Given the description of an element on the screen output the (x, y) to click on. 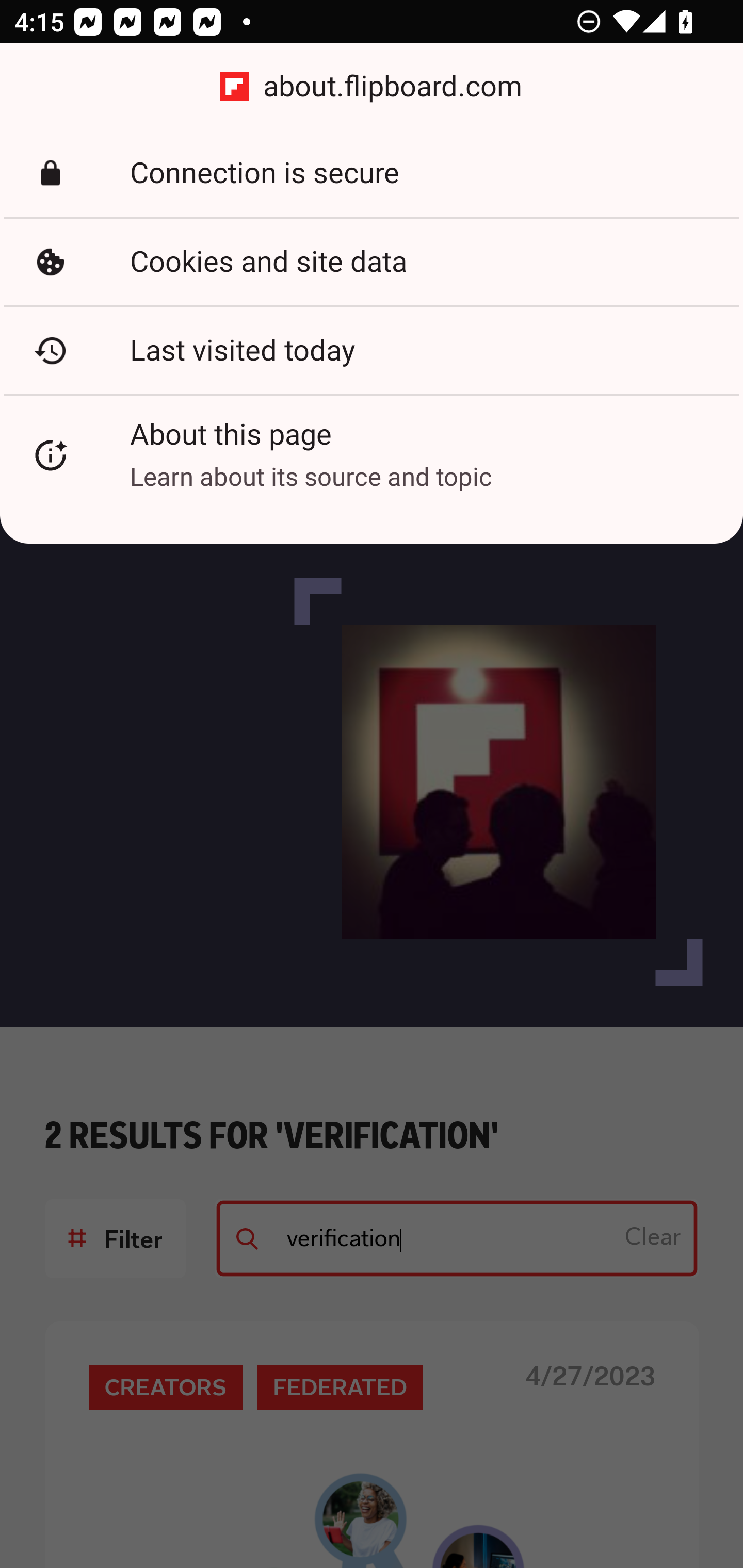
about.flipboard.com (371, 86)
Connection is secure (371, 173)
Cookies and site data (371, 261)
Last visited today (371, 350)
About this page Learn about its source and topic (371, 455)
